Given the description of an element on the screen output the (x, y) to click on. 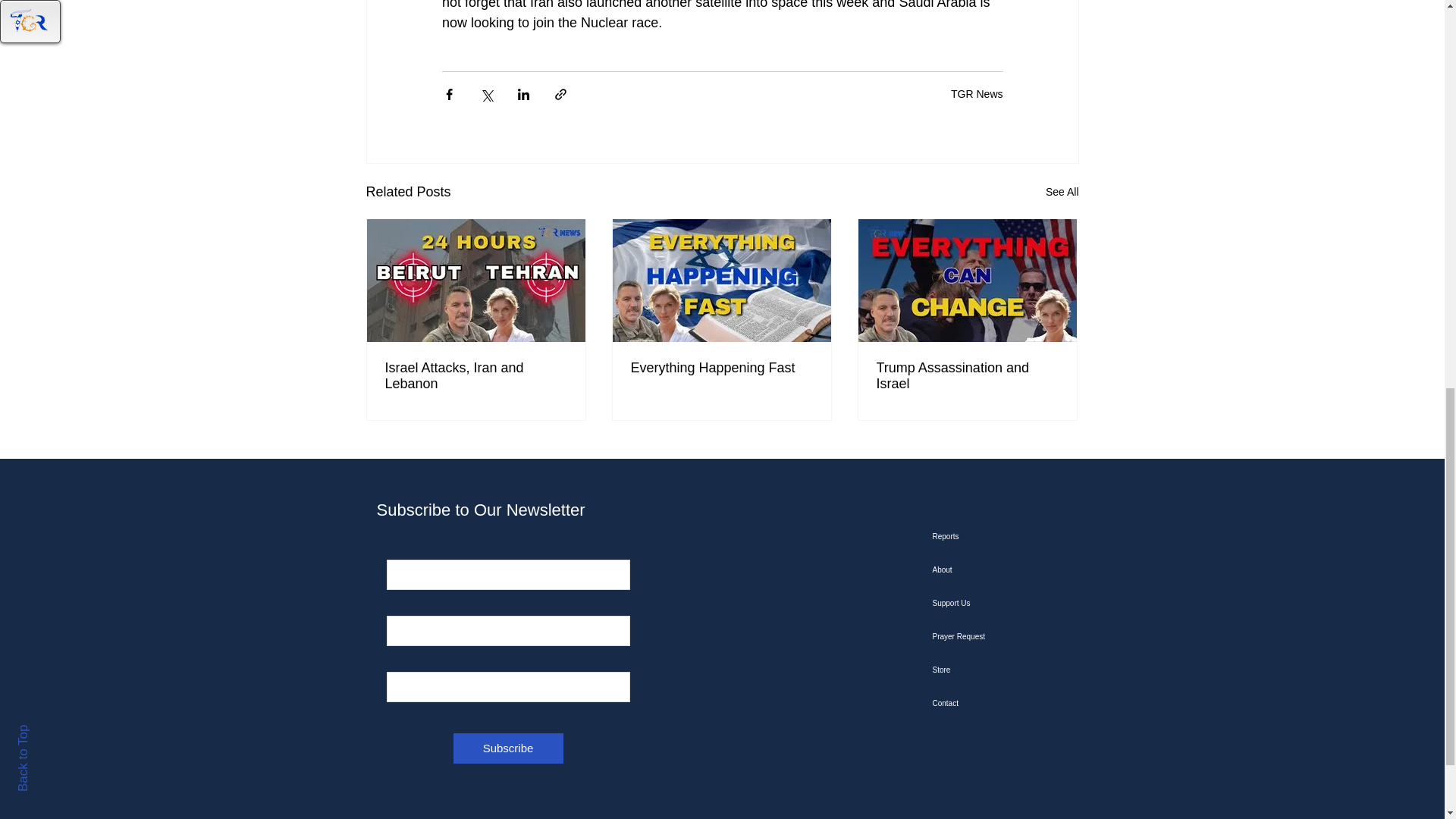
See All (1061, 191)
Reports (1009, 536)
Israel Attacks, Iran and Lebanon (476, 376)
Everything Happening Fast (721, 367)
TGR News (976, 93)
Subscribe (507, 748)
Trump Assassination and Israel (967, 376)
